Given the description of an element on the screen output the (x, y) to click on. 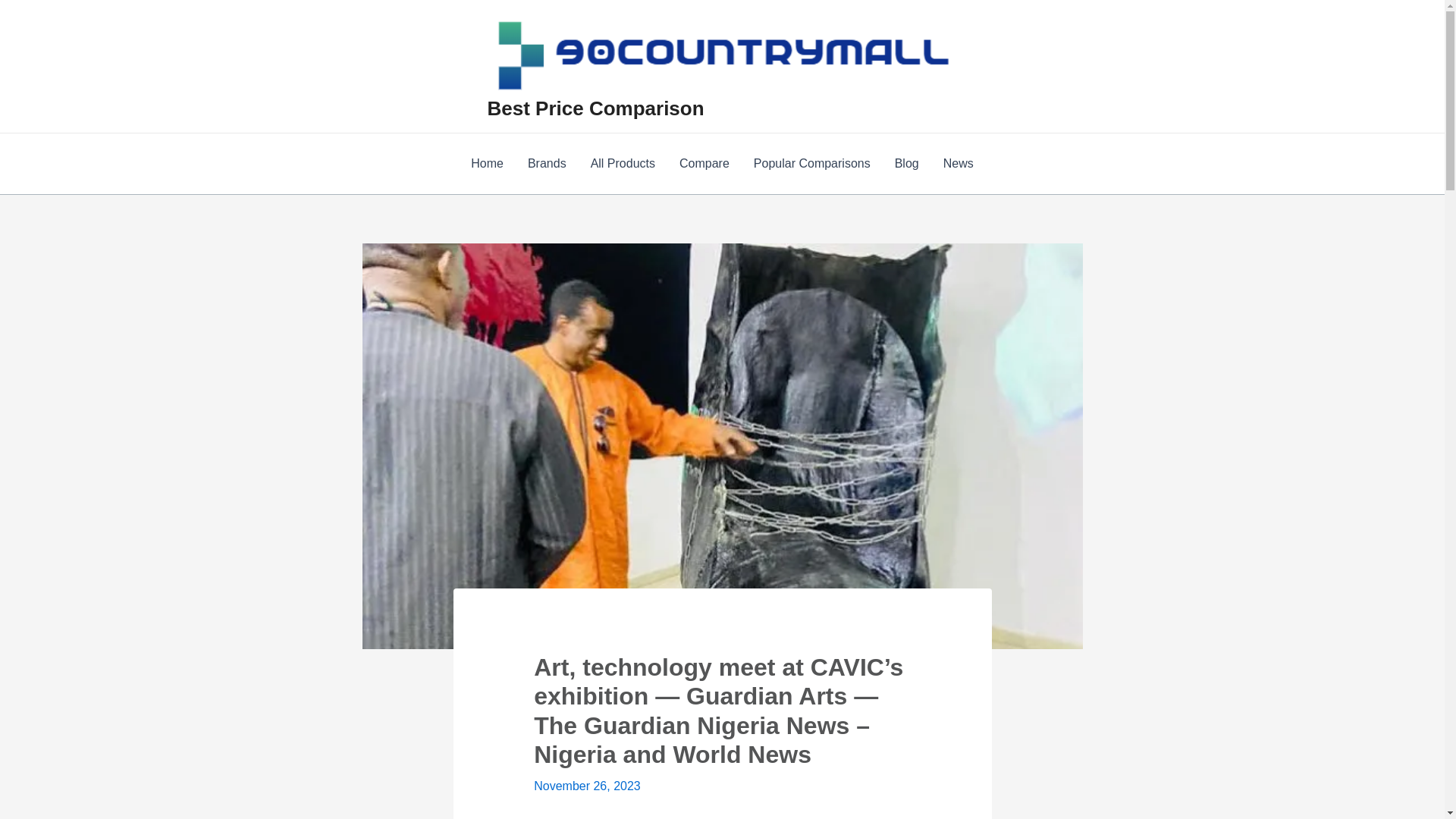
Compare (703, 163)
Brands (546, 163)
Popular Comparisons (811, 163)
Home (486, 163)
Best Price Comparison (594, 108)
News (958, 163)
All Products (622, 163)
